Given the description of an element on the screen output the (x, y) to click on. 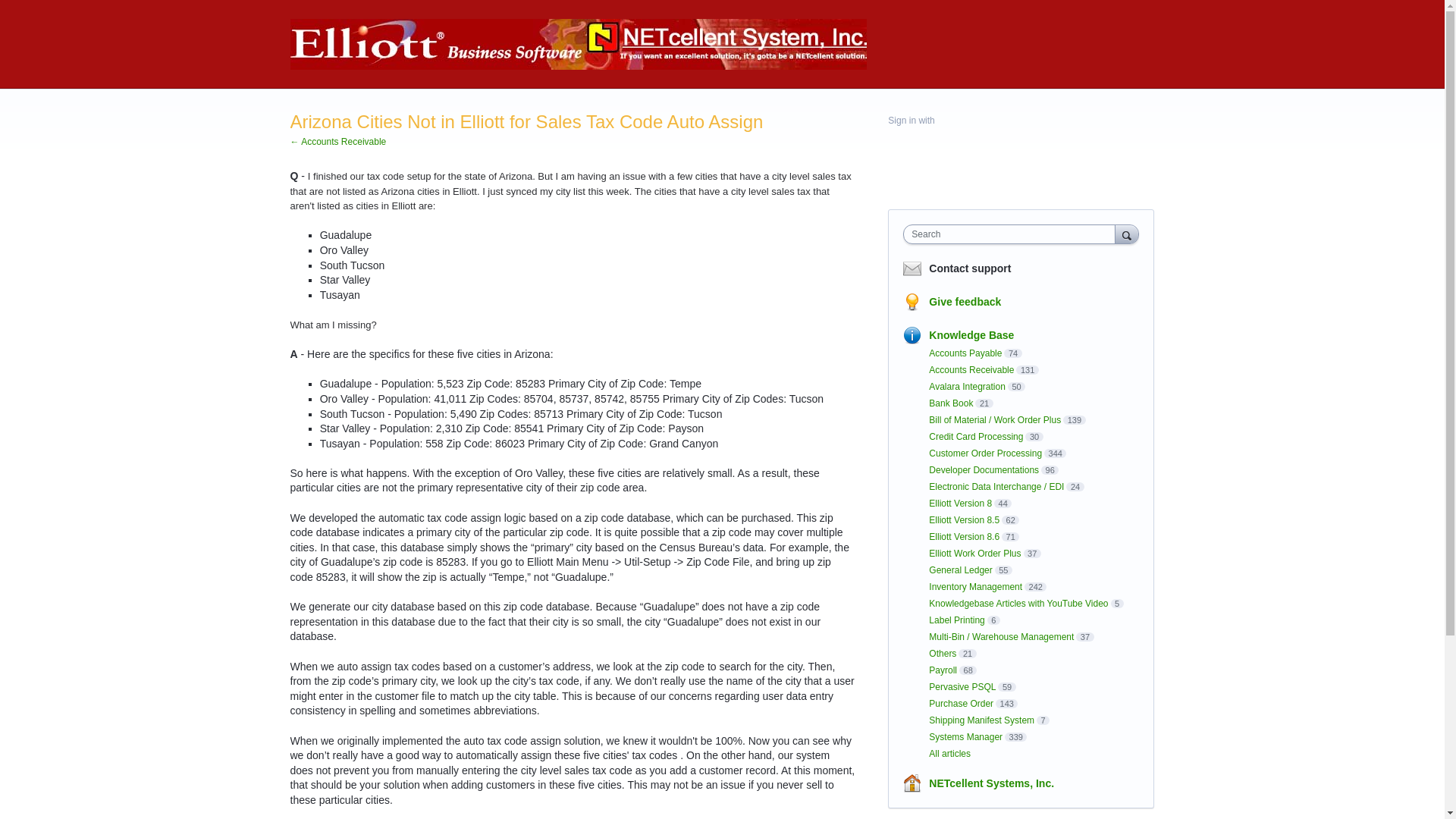
Avalara Integration (967, 386)
Label Printing (956, 620)
View all articles in Developer Documentations (983, 470)
Give feedback (964, 301)
View all articles in Accounts Payable (964, 353)
Elliott Work Order Plus (974, 552)
View all articles in Elliott Version 8 (959, 502)
Pervasive PSQL (961, 686)
View all articles in Inventory Management (975, 586)
Elliott Version 8 (959, 502)
